Given the description of an element on the screen output the (x, y) to click on. 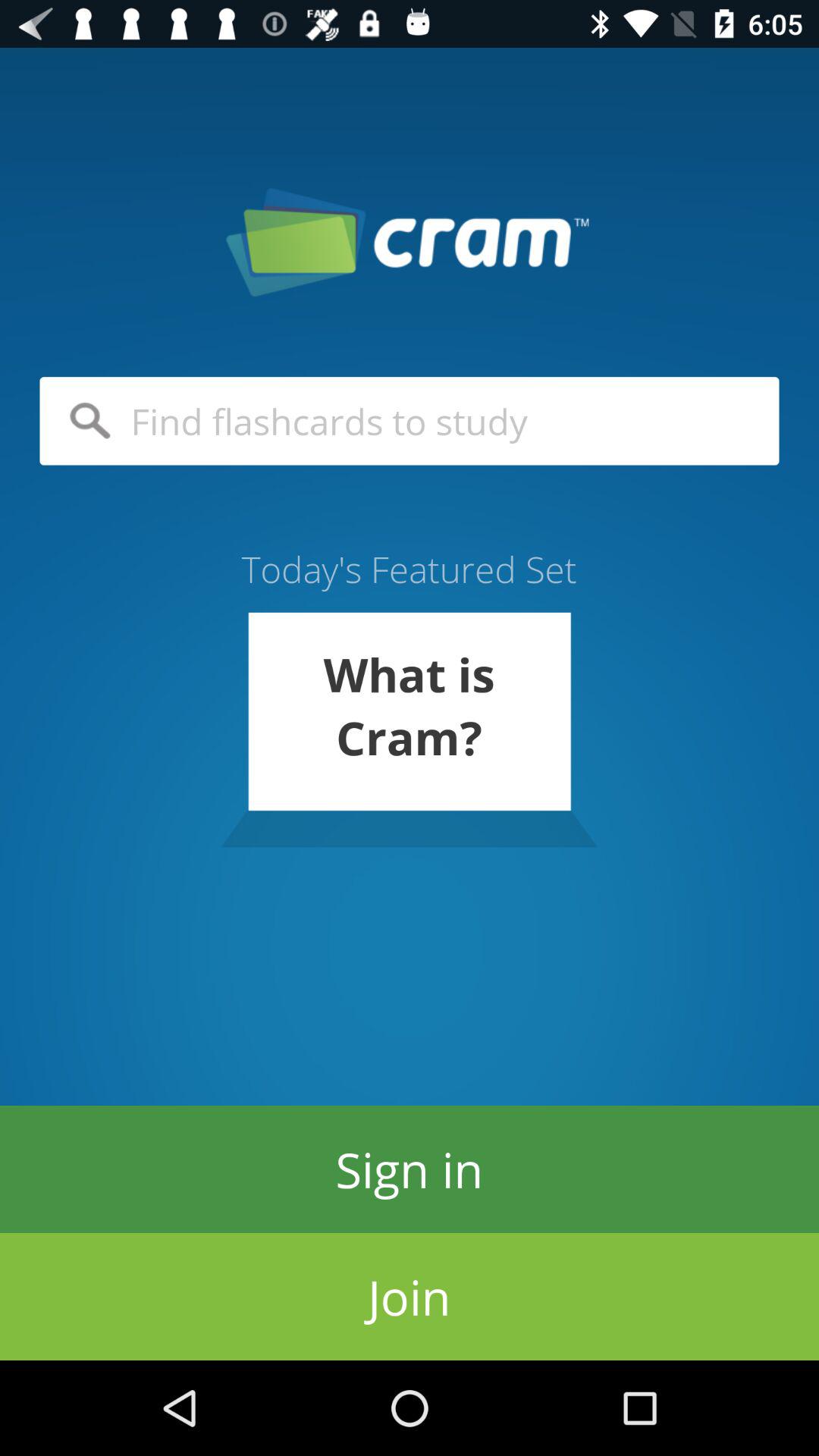
choose the what is
cram? icon (408, 729)
